Given the description of an element on the screen output the (x, y) to click on. 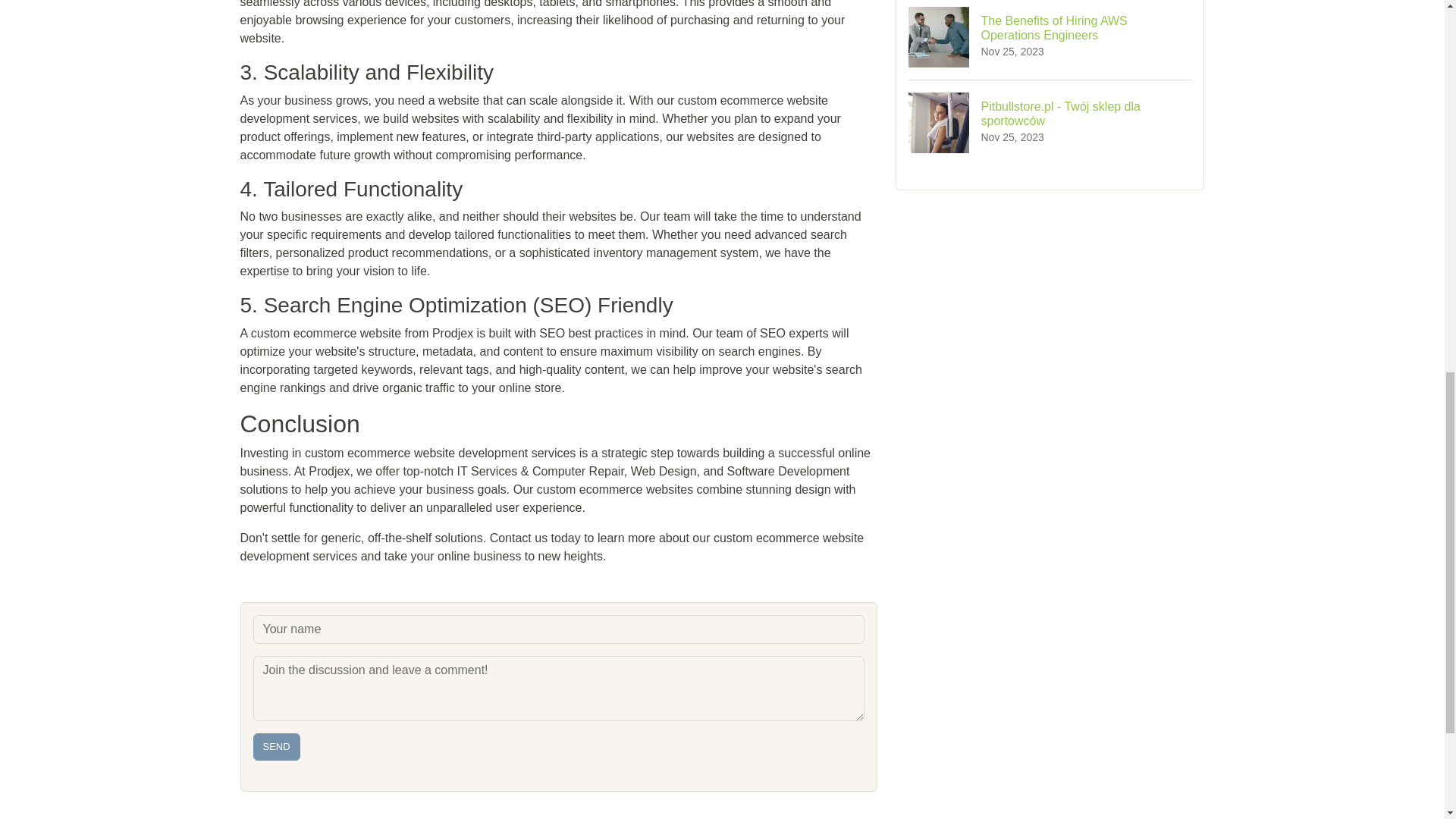
Send (276, 746)
Send (276, 746)
